Given the description of an element on the screen output the (x, y) to click on. 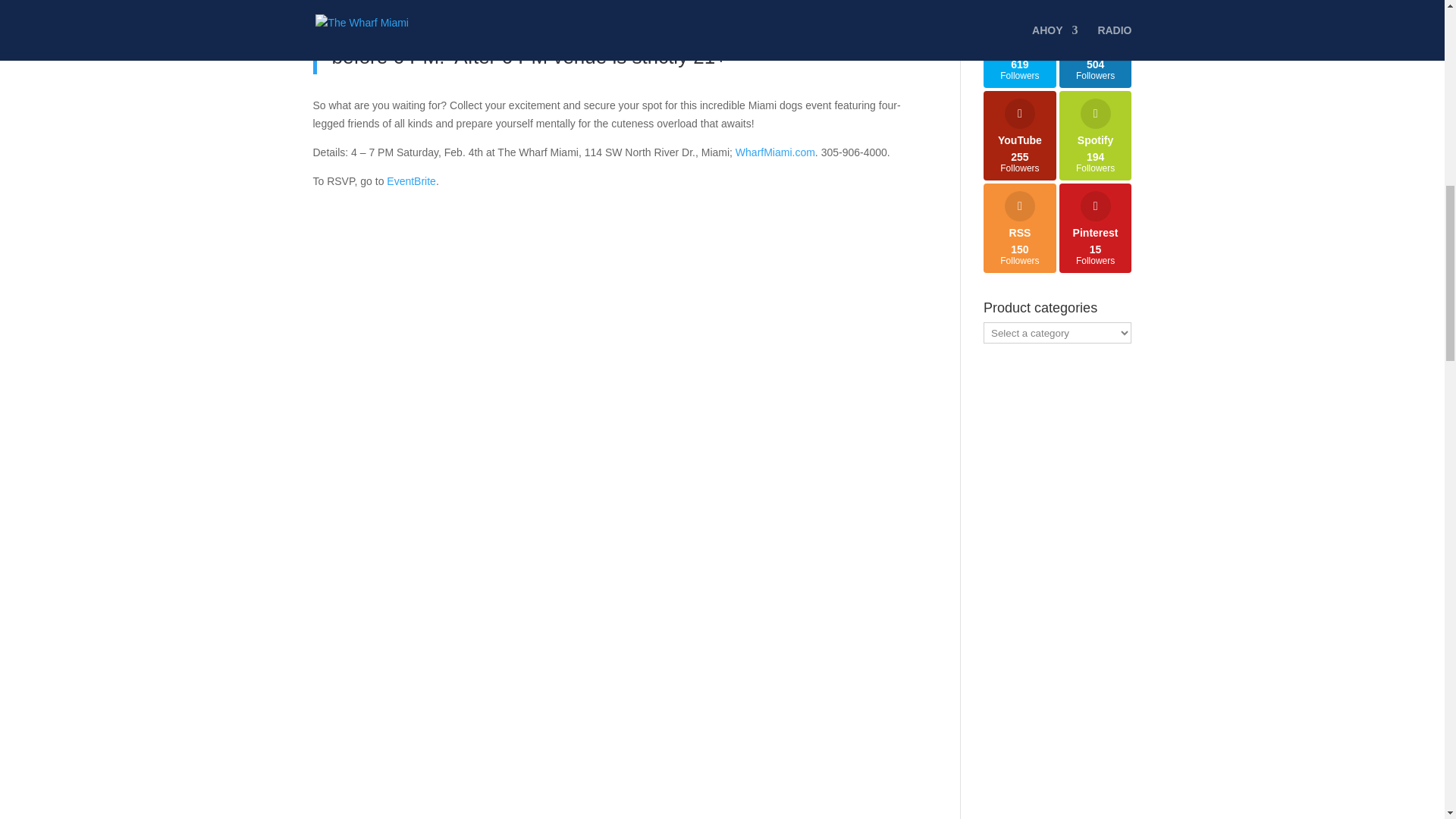
Bottles and Bulldogs: Frenchie Meetup at The Wharf Miami (411, 181)
Miami Dogs - The Wharf Miami (772, 668)
Miami Dogs - The Wharf Miami (454, 668)
WharfMiami.com (775, 152)
EventBrite (411, 181)
